Given the description of an element on the screen output the (x, y) to click on. 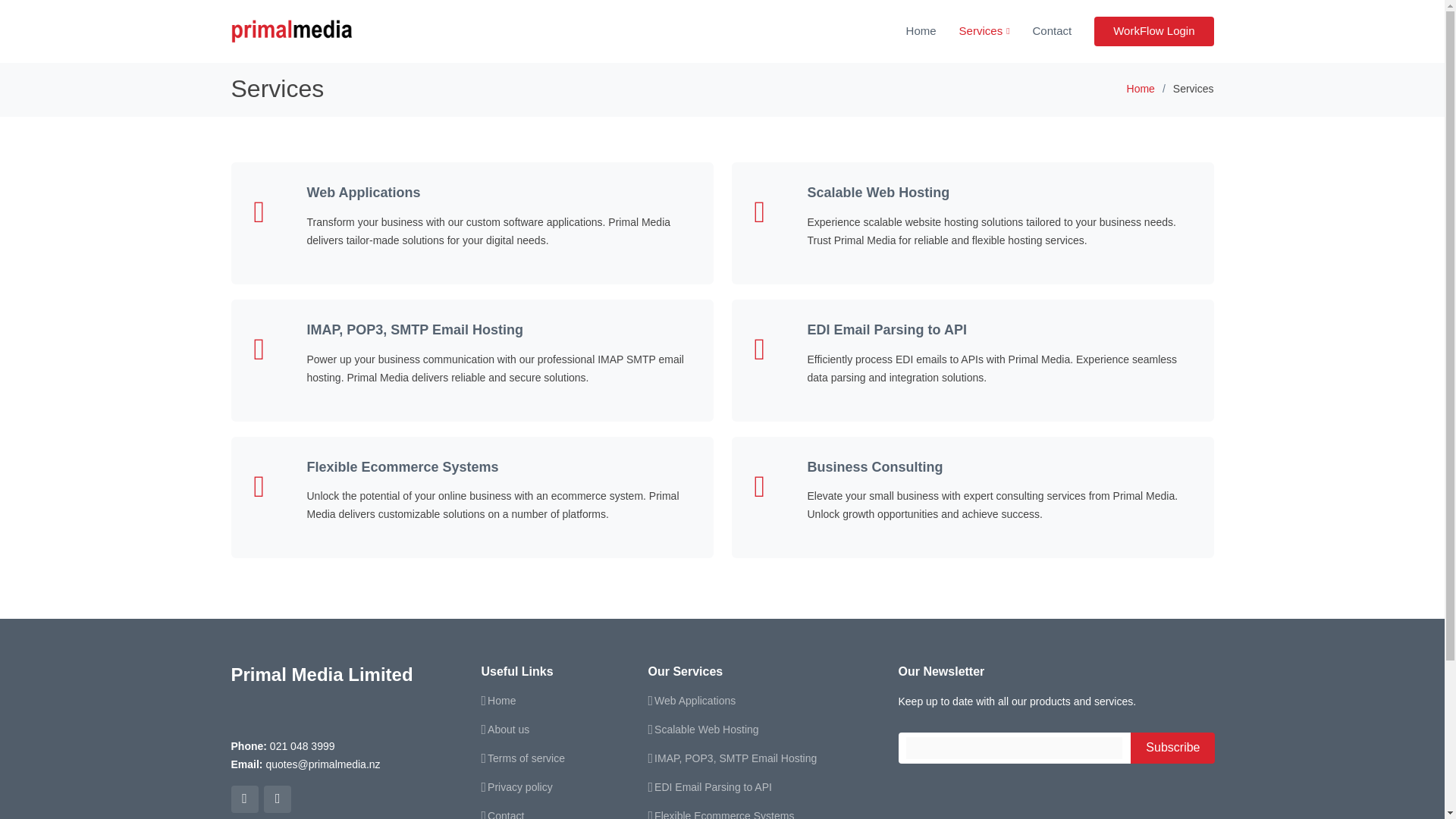
Home (1140, 88)
Contact (505, 814)
Web Applications (694, 700)
Business Consulting (874, 467)
IMAP, POP3, SMTP Email Hosting (413, 329)
EDI Email Parsing to API (712, 787)
Subscribe (1172, 747)
Privacy policy (520, 787)
Flexible Ecommerce Systems (401, 467)
Home (501, 700)
About us (508, 728)
Scalable Web Hosting (877, 192)
WorkFlow Login (1153, 30)
IMAP, POP3, SMTP Email Hosting (734, 757)
Subscribe (1172, 747)
